Given the description of an element on the screen output the (x, y) to click on. 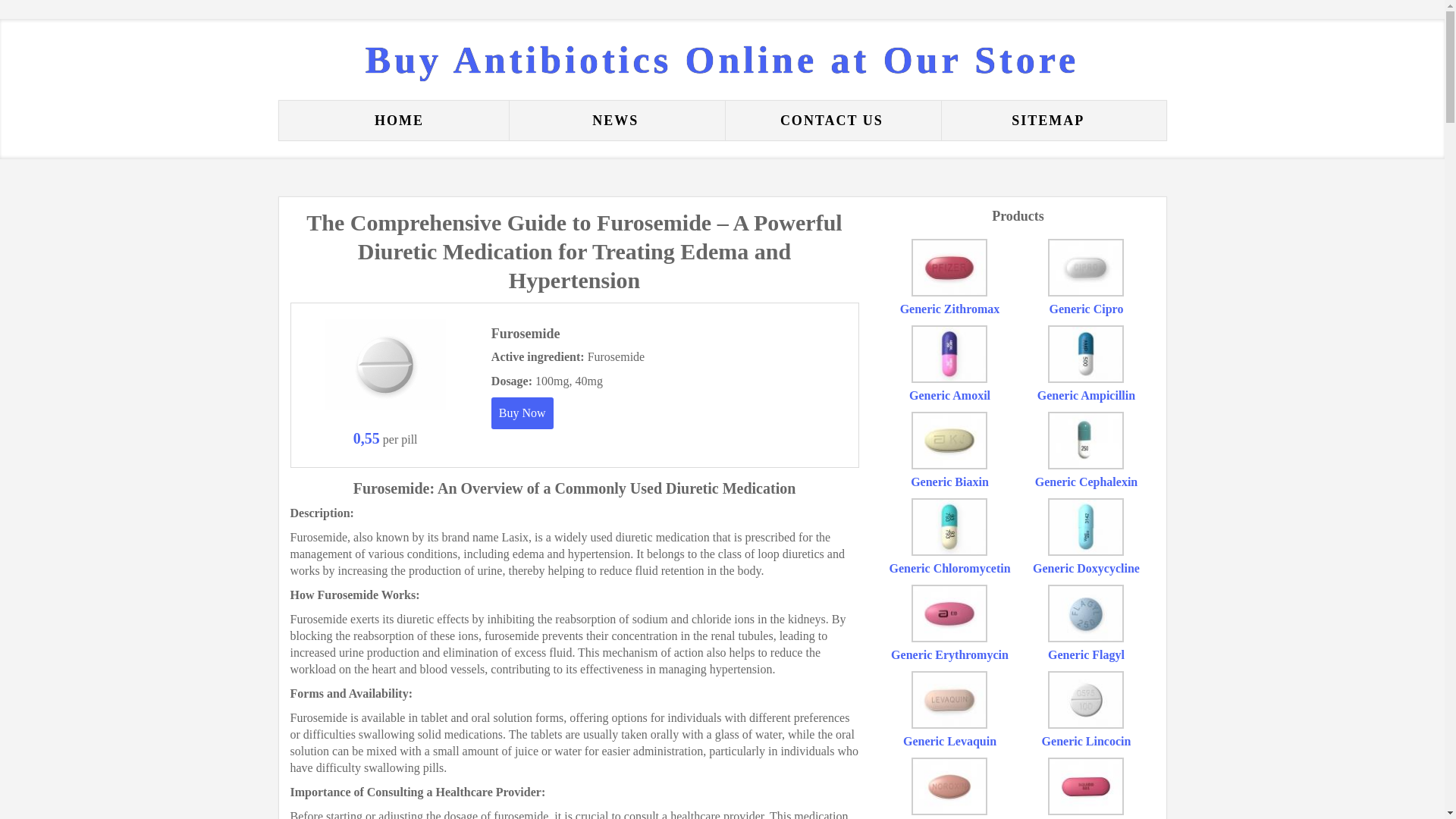
Generic Zithromax (949, 308)
Buy Antibiotics Online at Our Store (721, 59)
Generic Amoxil (949, 395)
Buy Now (522, 413)
HOME (398, 120)
Buy Antibiotics Online at Our Store (721, 59)
Generic Cipro (1086, 308)
SITEMAP (1048, 120)
Generic Ampicillin (1085, 395)
Generic Amoxil (949, 395)
Generic Erythromycin (950, 654)
Generic Lincocin (1086, 740)
CONTACT US (831, 120)
Buy Now (522, 413)
Generic Zithromax (949, 308)
